Given the description of an element on the screen output the (x, y) to click on. 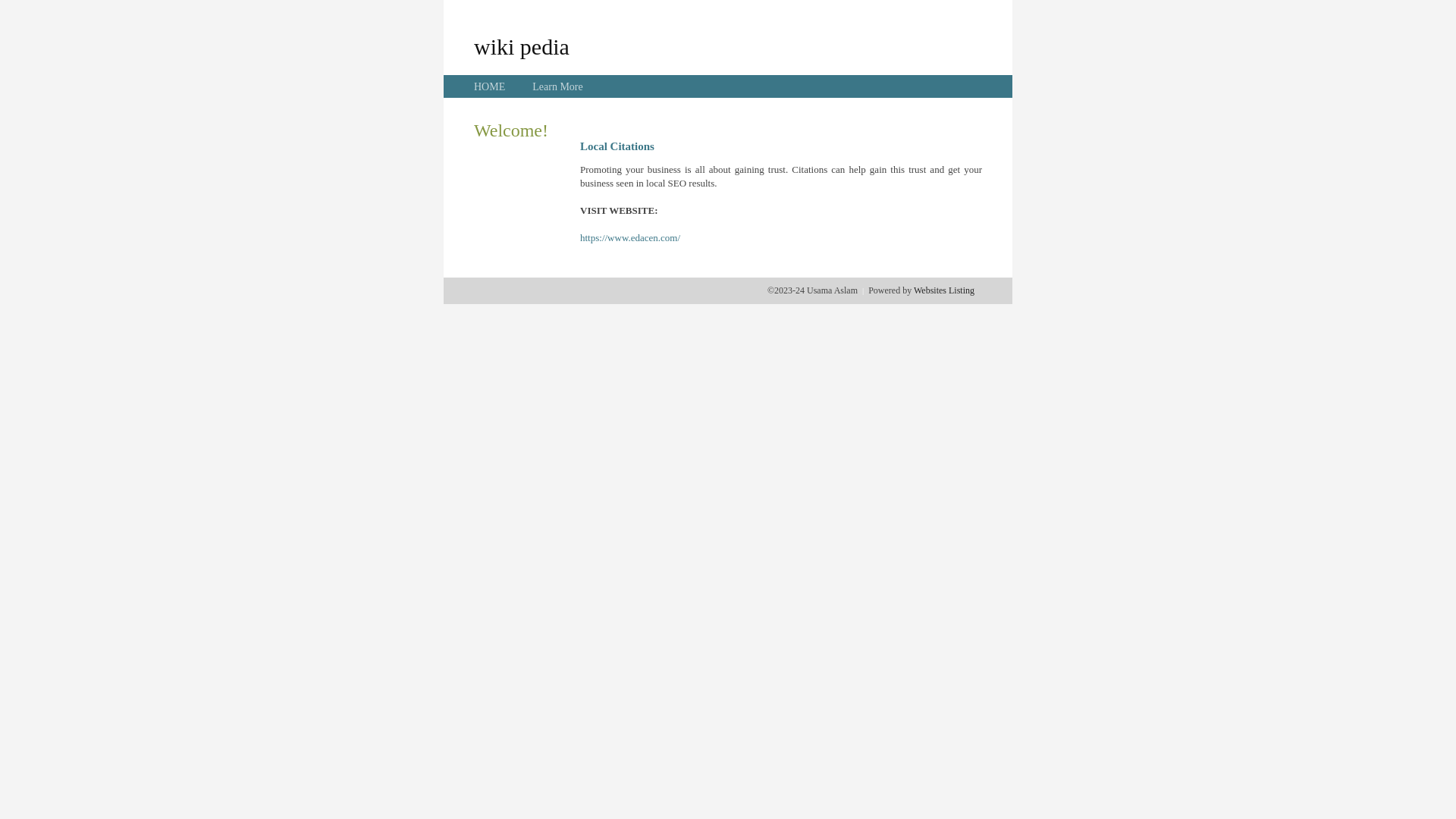
https://www.edacen.com/ Element type: text (630, 237)
HOME Element type: text (489, 86)
Websites Listing Element type: text (943, 290)
wiki pedia Element type: text (521, 46)
Learn More Element type: text (557, 86)
